Given the description of an element on the screen output the (x, y) to click on. 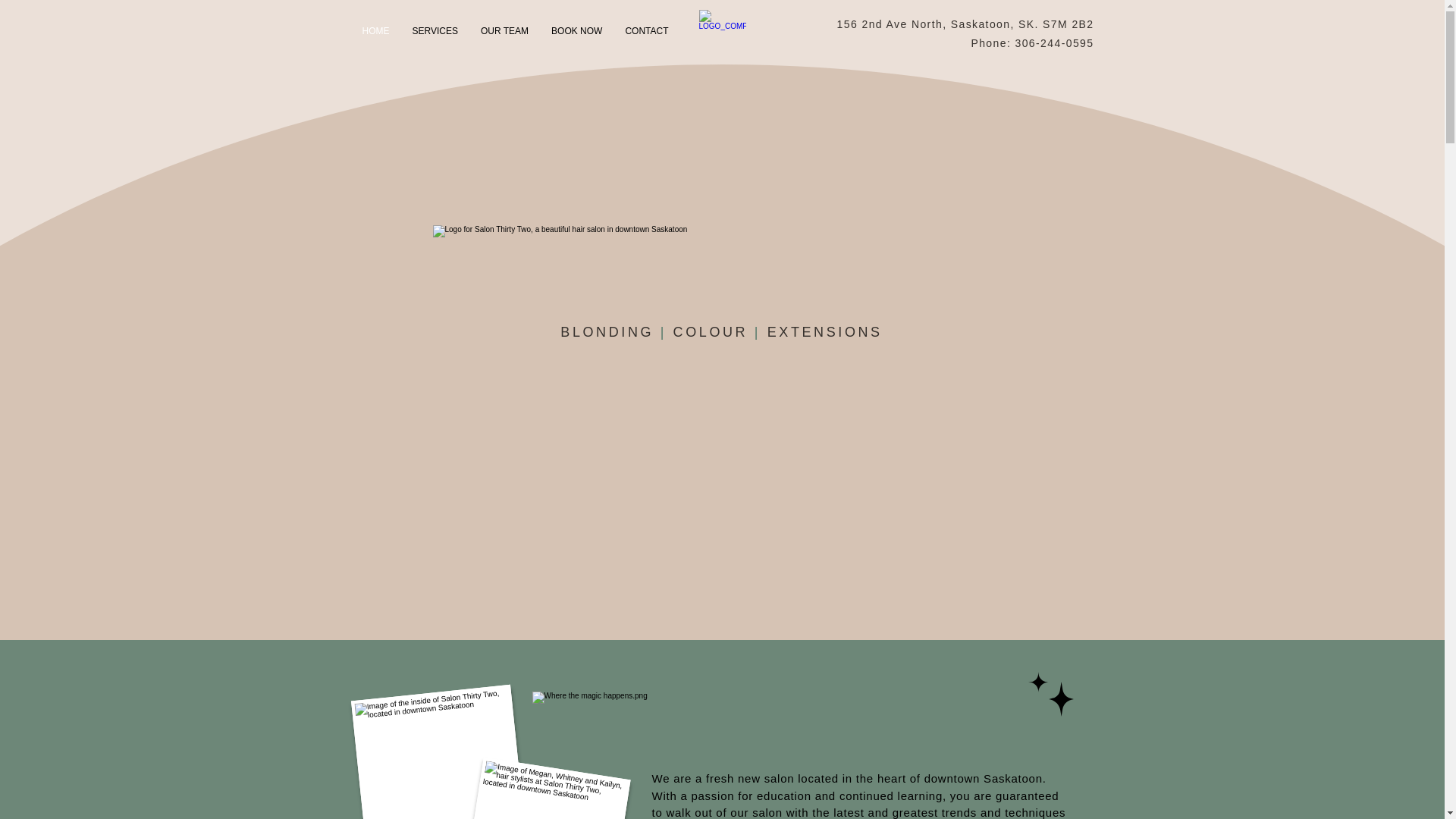
BOOK NOW (576, 32)
CONTACT (645, 32)
156 2nd Ave North, Saskatoon, SK. S7M 2B2 (965, 24)
HOME (375, 32)
SERVICES (434, 32)
OUR TEAM (504, 32)
